Given the description of an element on the screen output the (x, y) to click on. 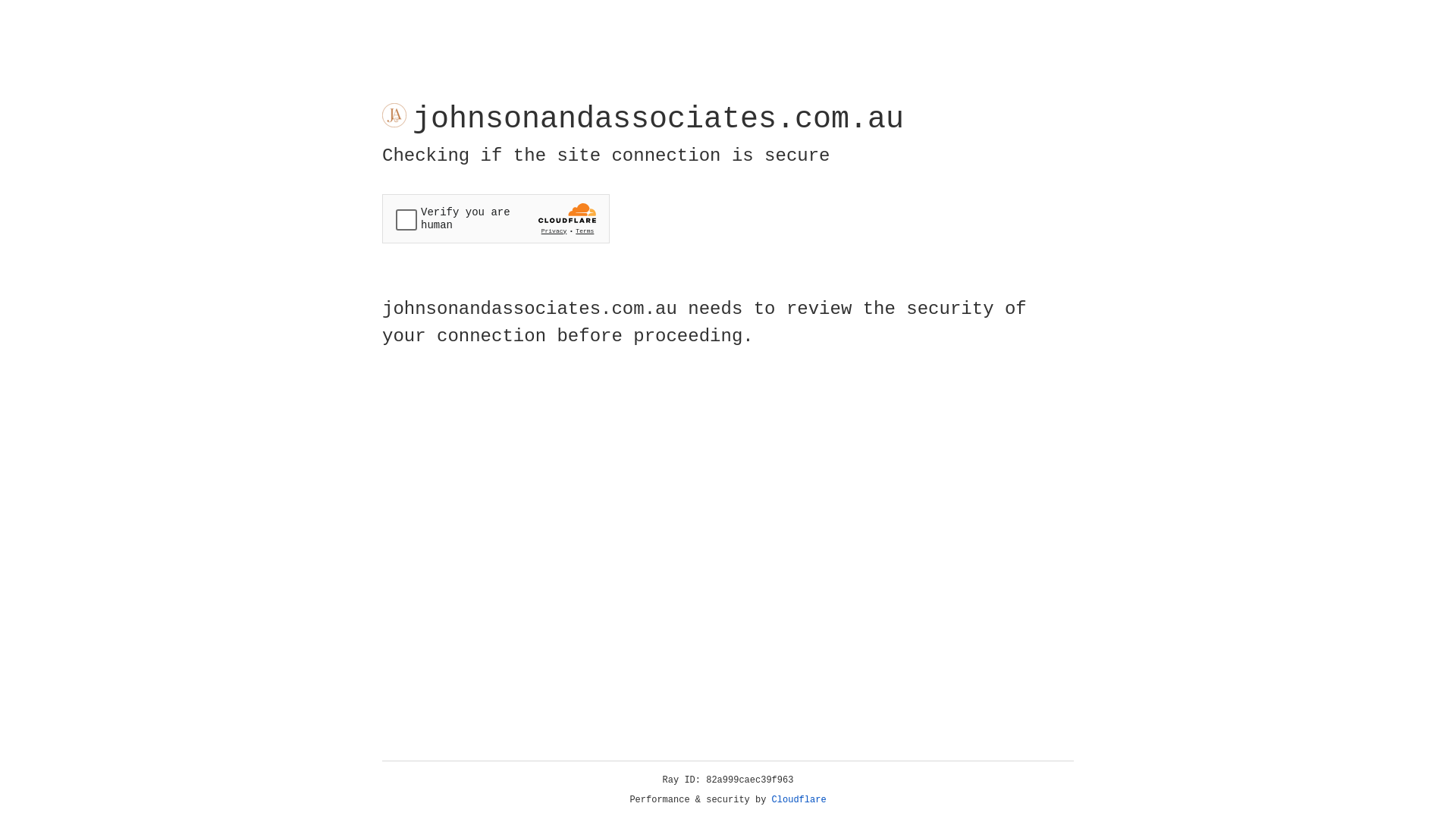
Cloudflare Element type: text (798, 799)
Widget containing a Cloudflare security challenge Element type: hover (495, 218)
